Given the description of an element on the screen output the (x, y) to click on. 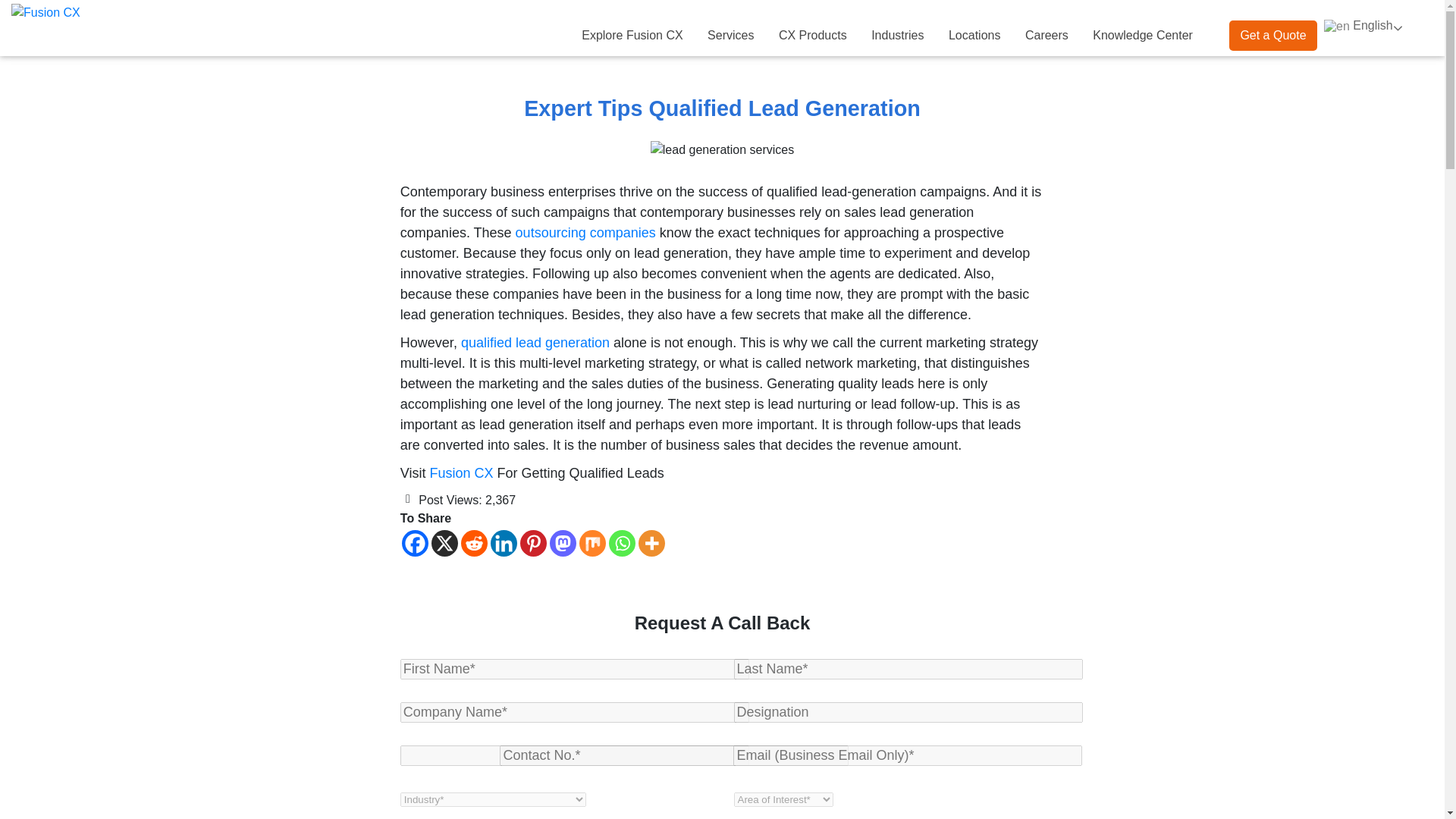
qualified lead generation (535, 342)
X (444, 542)
Facebook (414, 542)
Reddit (474, 542)
Whatsapp (621, 542)
CX Products (812, 35)
Services (730, 35)
Explore Fusion CX (631, 35)
More (652, 542)
Linkedin (503, 542)
